Given the description of an element on the screen output the (x, y) to click on. 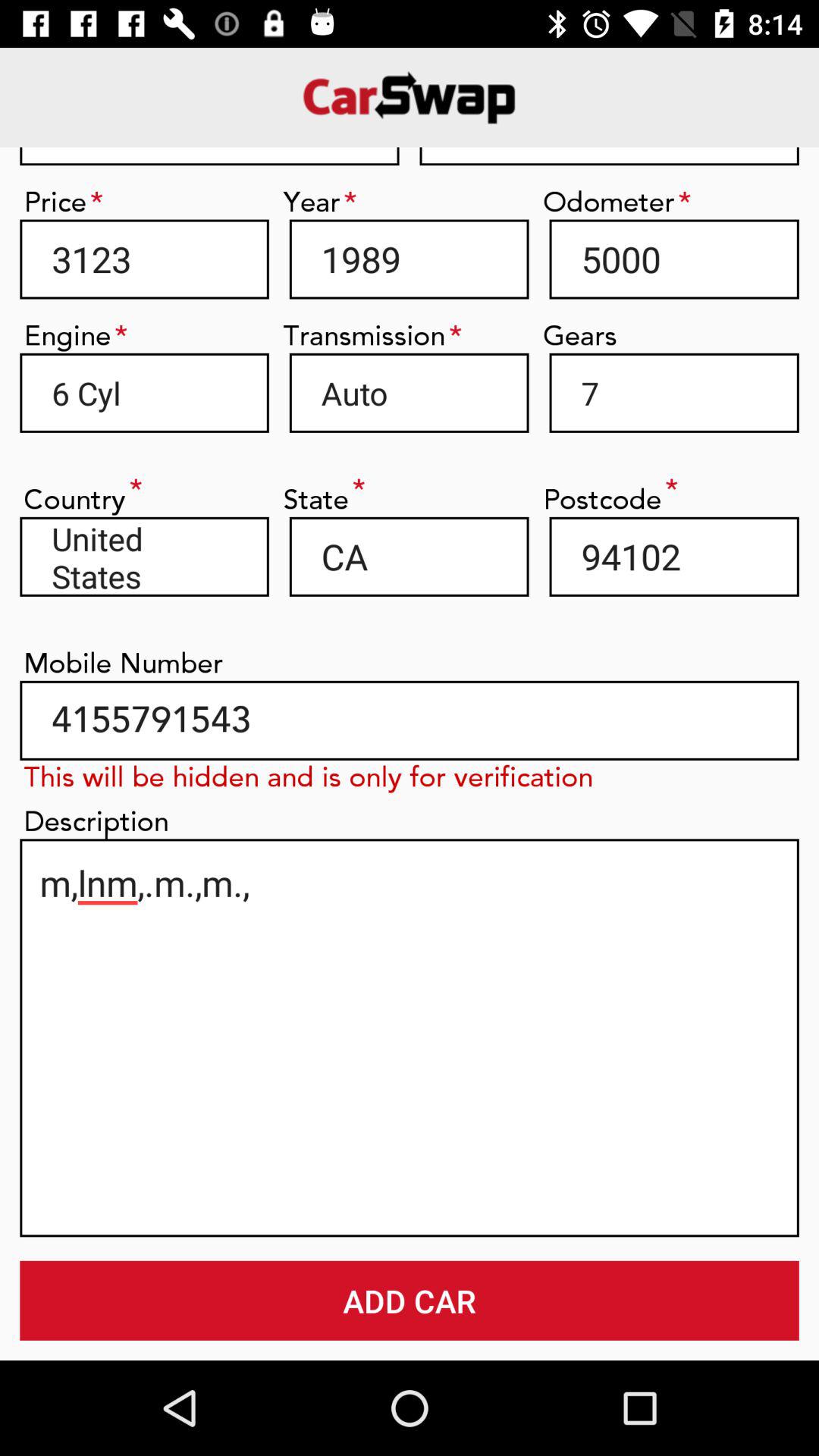
choose the item above odometer item (609, 156)
